Given the description of an element on the screen output the (x, y) to click on. 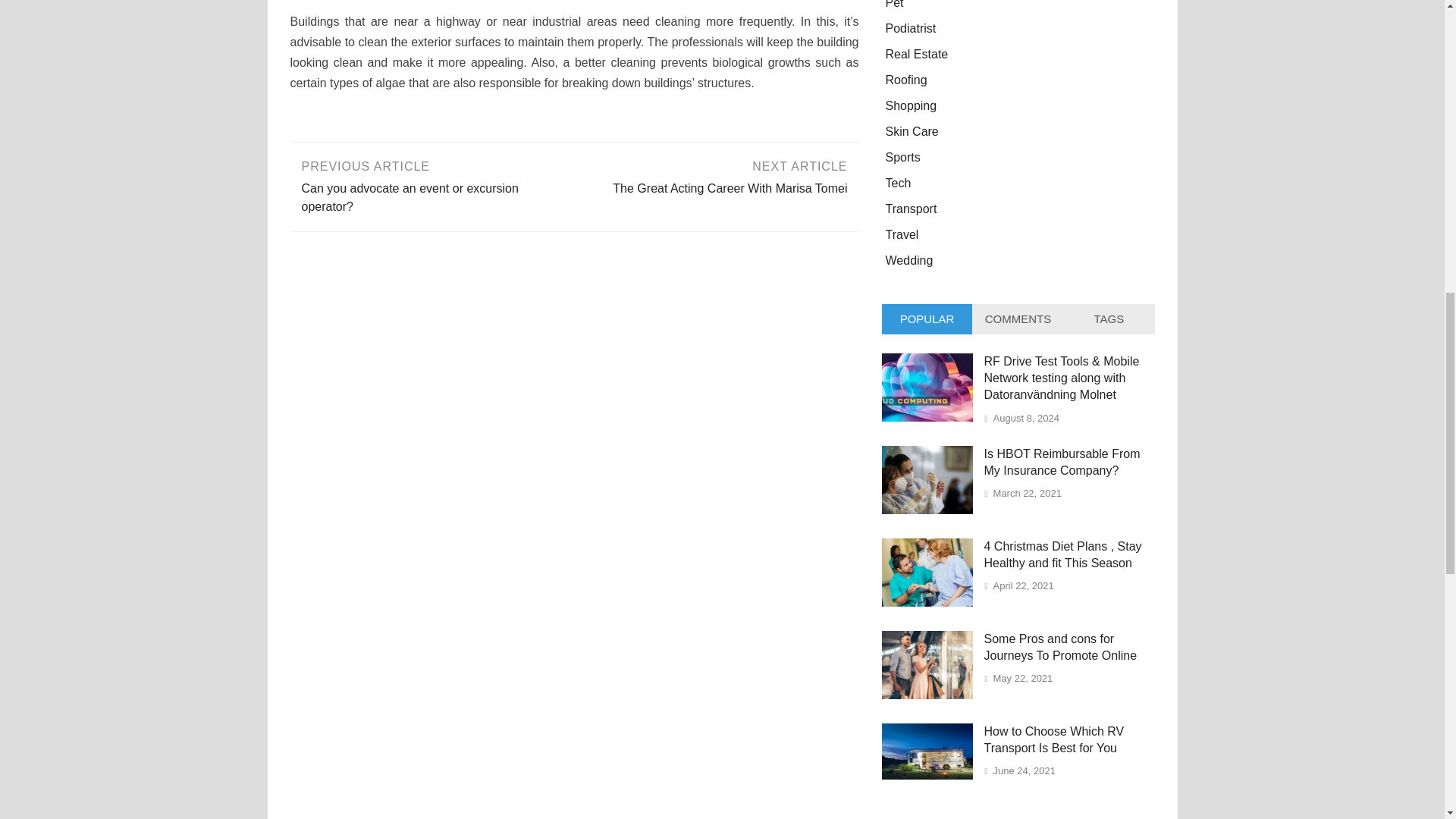
4 Christmas Diet Plans , Stay Healthy and fit This Season (716, 176)
How to Choose Which RV Transport Is Best for You (927, 602)
Is HBOT Reimbursable From My Insurance Company? (927, 775)
Some Pros and cons for Journeys To Promote Online (927, 509)
